Given the description of an element on the screen output the (x, y) to click on. 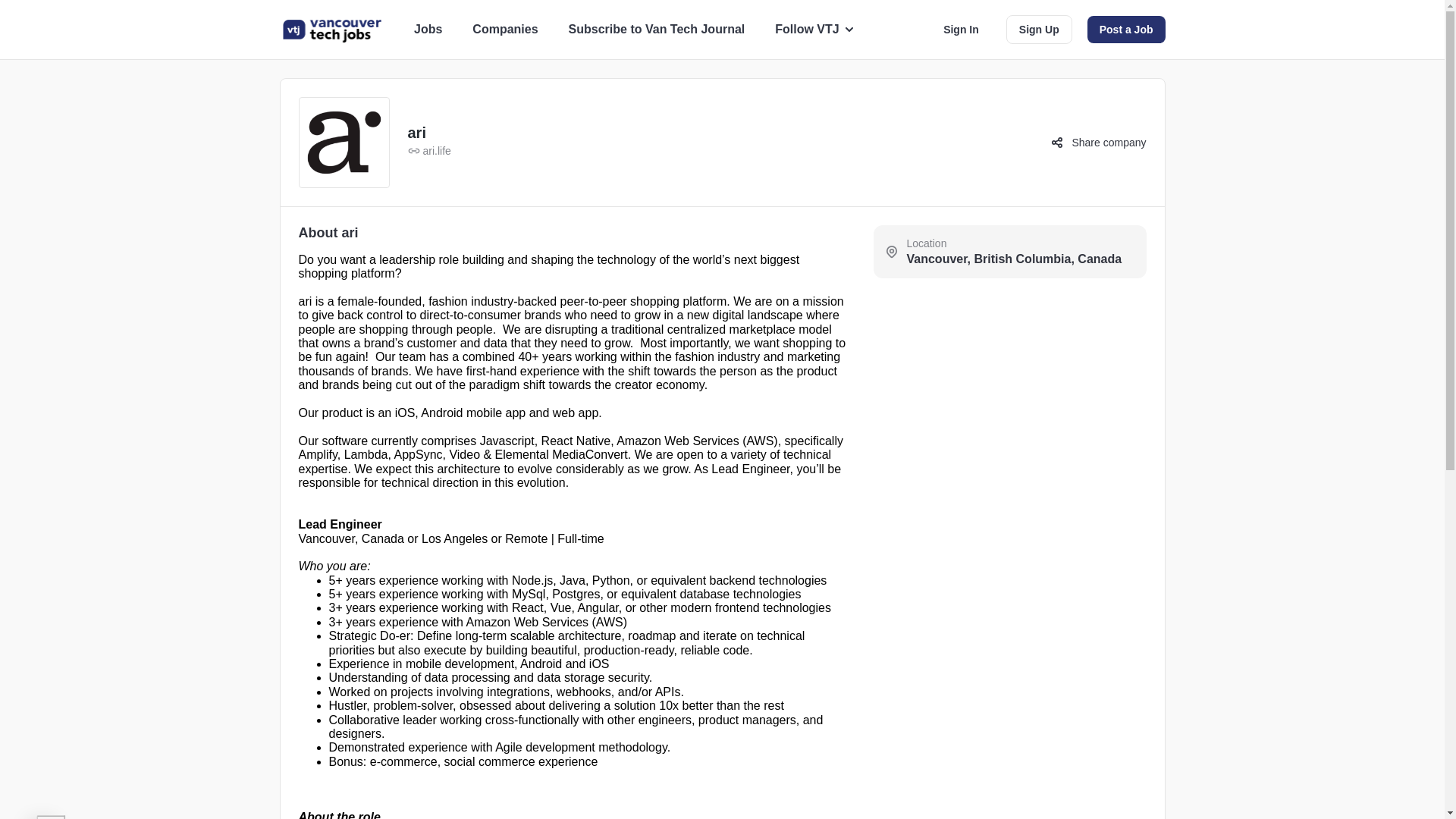
Companies (504, 29)
Sign Up (1038, 29)
ari.life (429, 151)
Post a Job (1126, 29)
Jobs (427, 29)
Sign In (961, 29)
Subscribe to Van Tech Journal (657, 29)
